Given the description of an element on the screen output the (x, y) to click on. 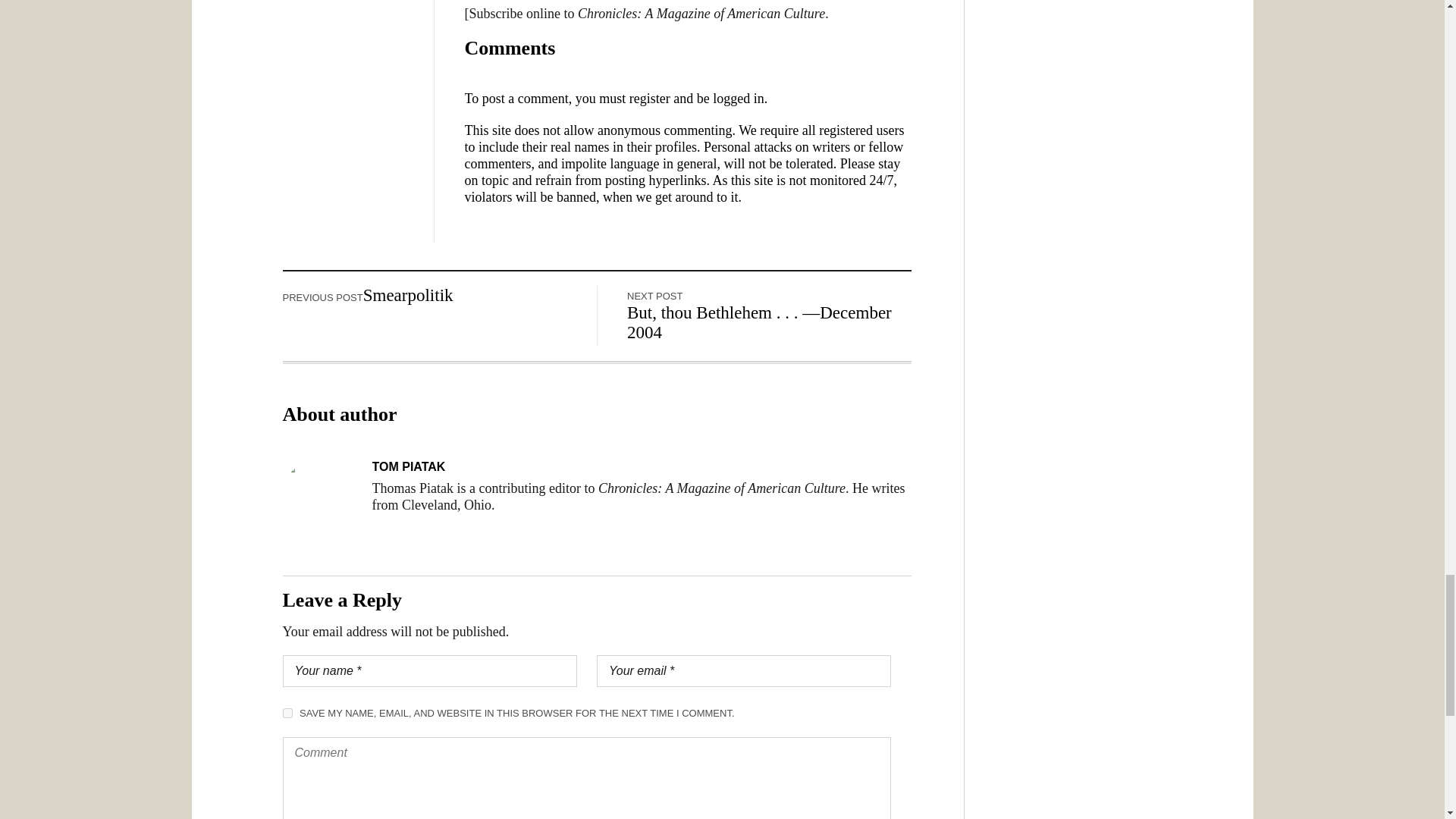
yes (287, 713)
PREVIOUS POST (322, 294)
Smearpolitik (407, 294)
